Given the description of an element on the screen output the (x, y) to click on. 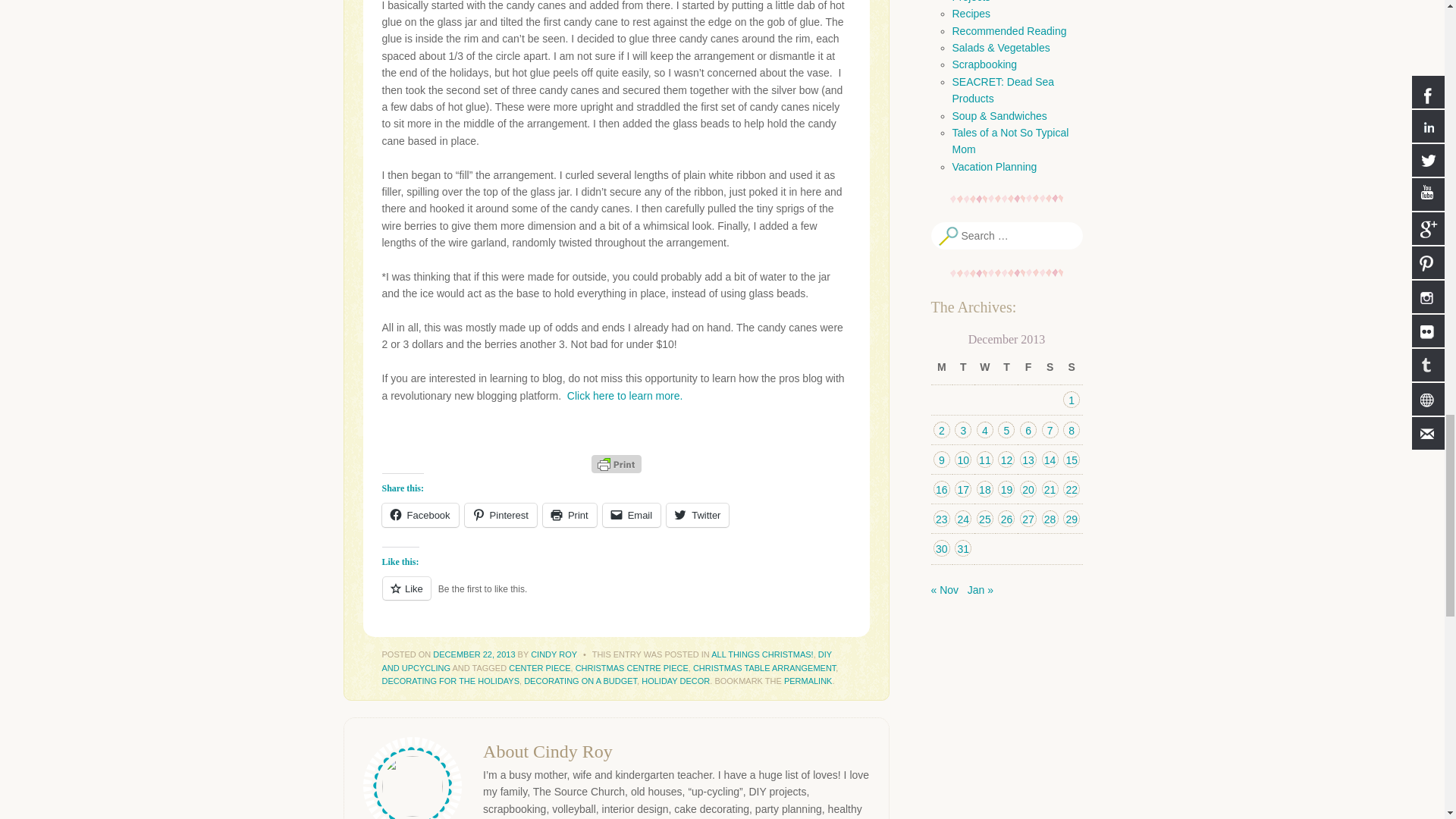
View all posts by Cindy Roy (553, 655)
Permalink to Simple Christmas Centre Piece (808, 681)
Email (631, 515)
Pinterest (500, 515)
Like or Reblog (615, 597)
Click here to learn more. (624, 395)
PERMALINK (808, 681)
Click to share on Pinterest (500, 515)
DECEMBER 22, 2013 (473, 655)
Print (569, 515)
CHRISTMAS TABLE ARRANGEMENT (764, 668)
Click to share on Twitter (697, 515)
Cindy Roy (572, 751)
DECORATING FOR THE HOLIDAYS (450, 681)
CINDY ROY (553, 655)
